Given the description of an element on the screen output the (x, y) to click on. 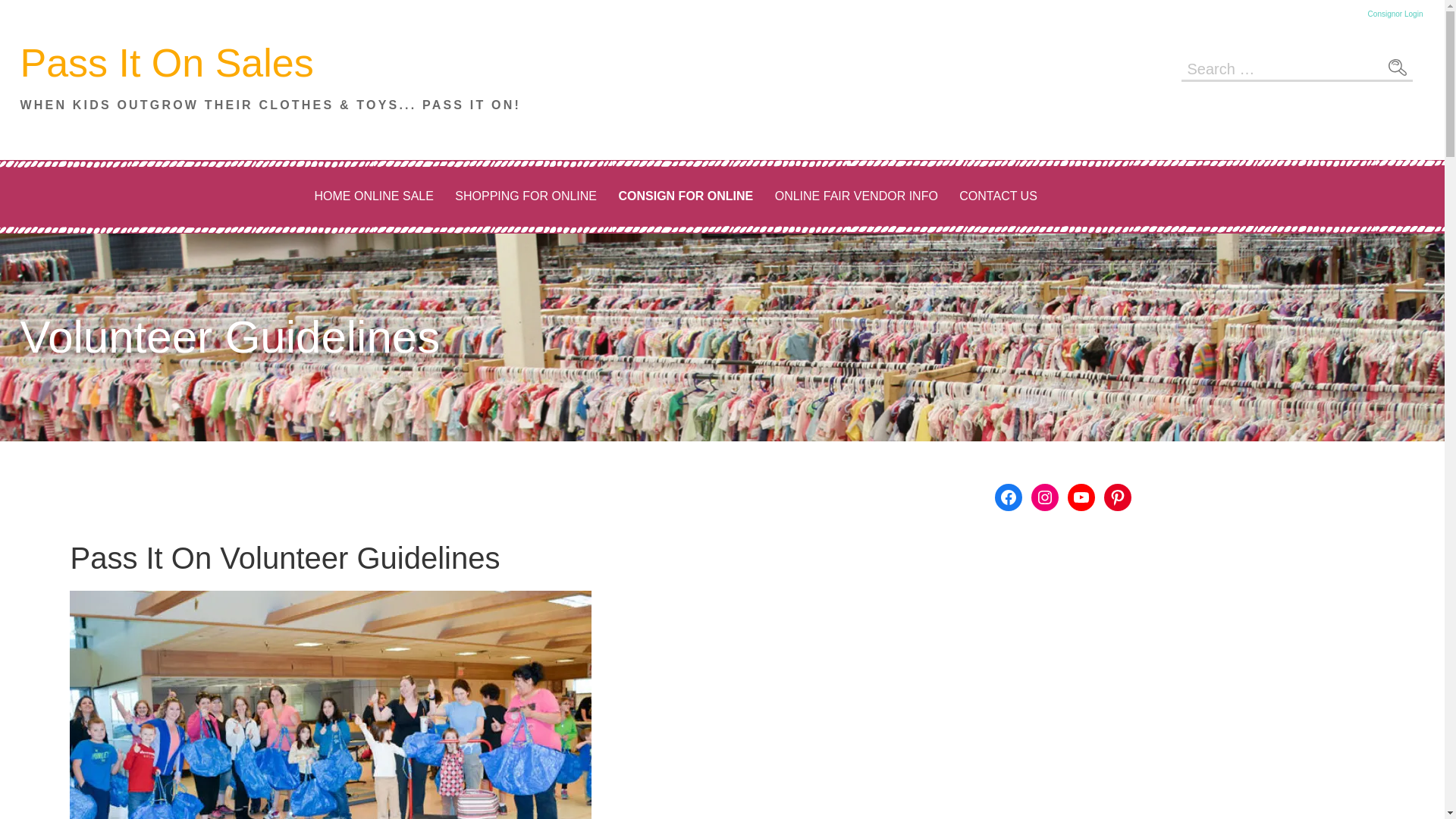
Search (1396, 67)
SHOPPING FOR ONLINE (525, 196)
Pinterest (1117, 497)
CONTACT US (998, 196)
HOME ONLINE SALE (373, 196)
Facebook (1008, 497)
ONLINE FAIR VENDOR INFO (856, 196)
CONSIGN FOR ONLINE (684, 196)
Pass It On Sales (166, 62)
YouTube (1080, 497)
Search (1396, 67)
Search (1396, 67)
Instagram (1044, 497)
team-waitingtoshop (330, 704)
